Given the description of an element on the screen output the (x, y) to click on. 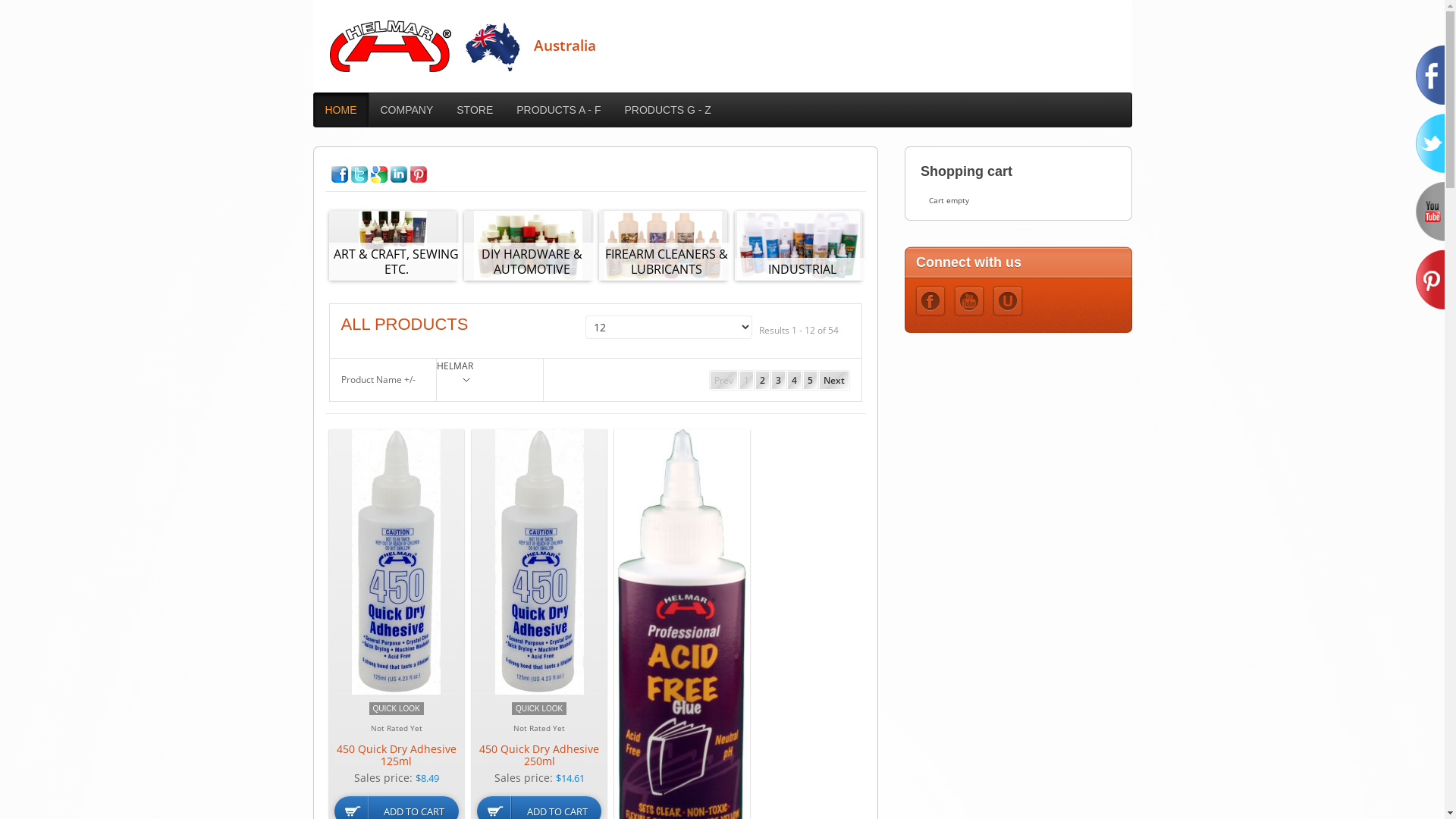
INDUSTRIAL Element type: text (801, 268)
2 Element type: text (762, 379)
450 Quick Dry Adhesive 250ml Element type: text (538, 755)
Next Element type: text (834, 379)
QUICK LOOK Element type: text (396, 708)
Youtube Element type: hover (969, 300)
QUICK LOOK Element type: text (538, 708)
INDUSTRIAL Element type: hover (798, 245)
DIY HARDWARE & AUTOMOTIVE Element type: text (531, 261)
HOME Element type: text (340, 109)
450 Quick Dry Adhesive 250ml Element type: hover (539, 560)
Acid Free Glue 125ml Element type: hover (681, 650)
FIREARM CLEANERS & LUBRICANTS Element type: hover (662, 245)
PRODUCTS G - Z Element type: text (666, 109)
Product Name +/- Element type: text (378, 379)
STORE Element type: text (474, 109)
ART & CRAFT, SEWING ETC. Element type: text (396, 261)
FIREARM CLEANERS & LUBRICANTS Element type: text (666, 261)
linkedin Element type: hover (398, 174)
Google Bookmarks Element type: hover (379, 174)
3 Element type: text (778, 379)
ART & CRAFT, SEWING ETC. Element type: hover (392, 245)
DIY HARDWARE & AUTOMOTIVE Element type: hover (527, 245)
5 Element type: text (810, 379)
450 Quick Dry Adhesive 125ml Element type: hover (395, 560)
450 Quick Dry Adhesive 125ml Element type: text (395, 755)
Ustream Element type: hover (1007, 300)
Twitter Element type: hover (359, 174)
Pinterest Element type: hover (418, 174)
COMPANY Element type: text (406, 109)
PRODUCTS A - F Element type: text (558, 109)
Facebook Element type: hover (930, 300)
4 Element type: text (794, 379)
Facebook Element type: hover (339, 174)
Australia Element type: text (462, 45)
